Given the description of an element on the screen output the (x, y) to click on. 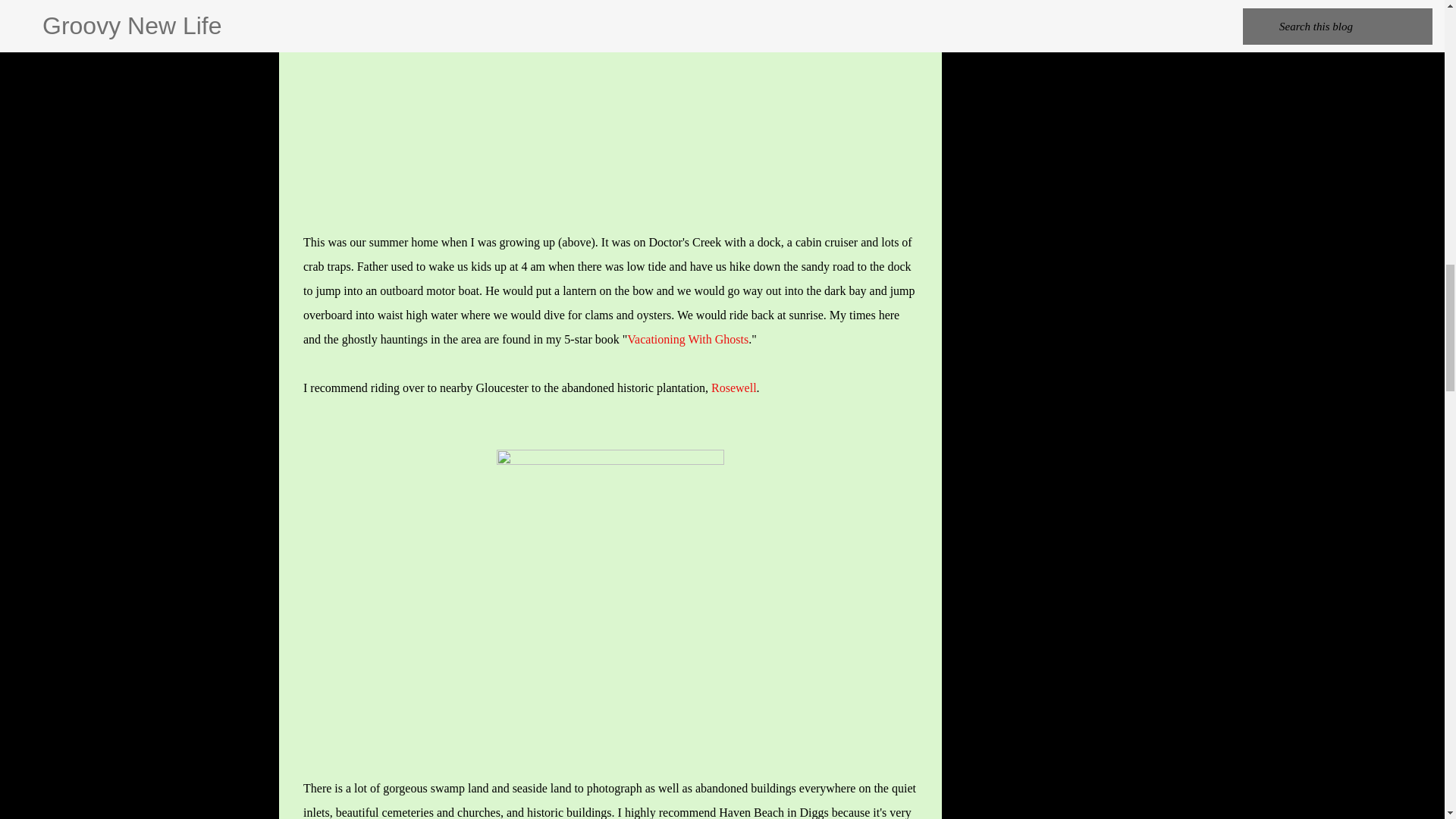
Rosewell (734, 387)
Vacationing With Ghosts (687, 338)
